Given the description of an element on the screen output the (x, y) to click on. 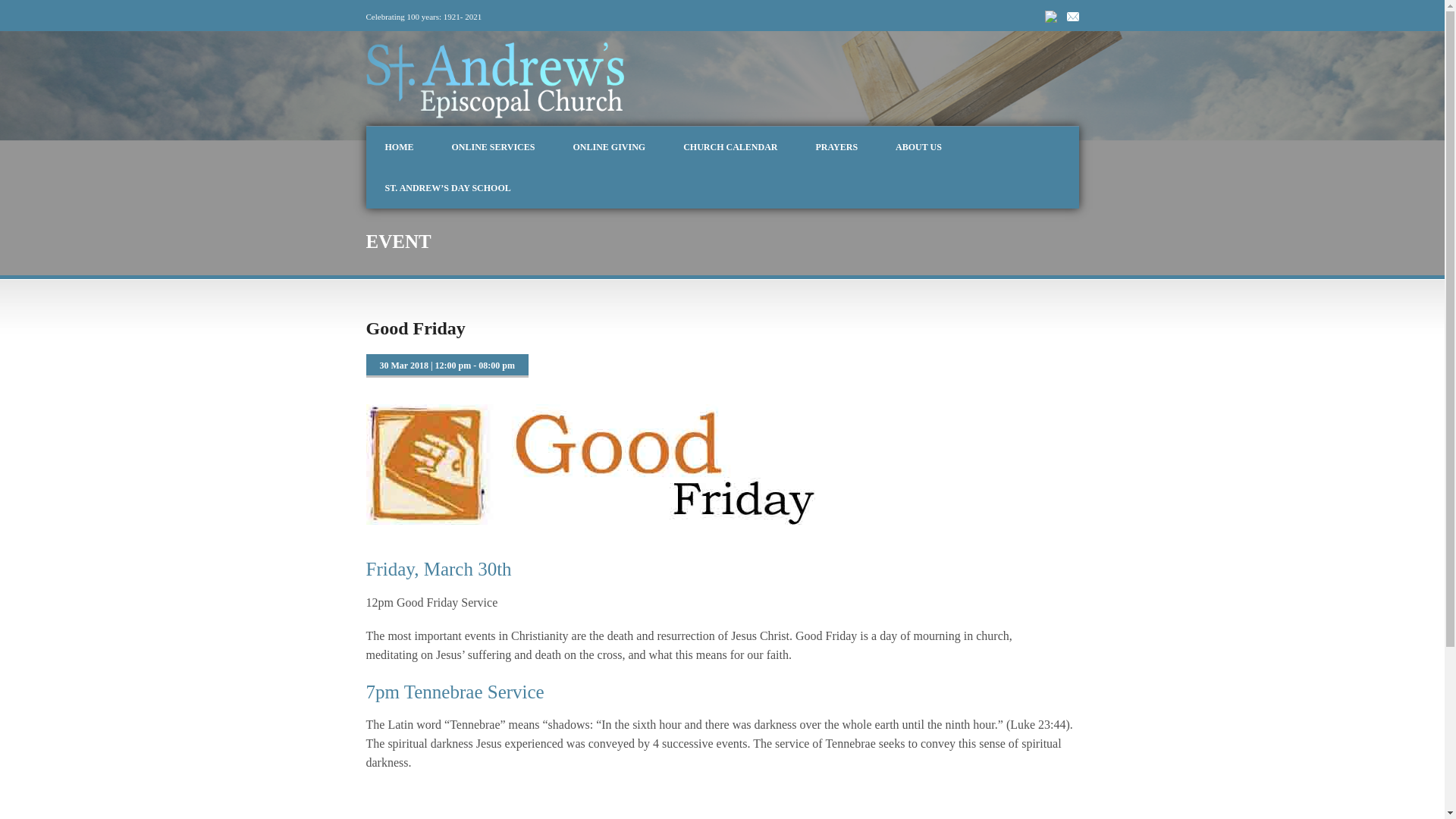
ABOUT US (918, 146)
ONLINE GIVING (608, 146)
Good Friday (414, 328)
PRAYERS (836, 146)
ONLINE SERVICES (492, 146)
CHURCH CALENDAR (729, 146)
HOME (398, 146)
